Given the description of an element on the screen output the (x, y) to click on. 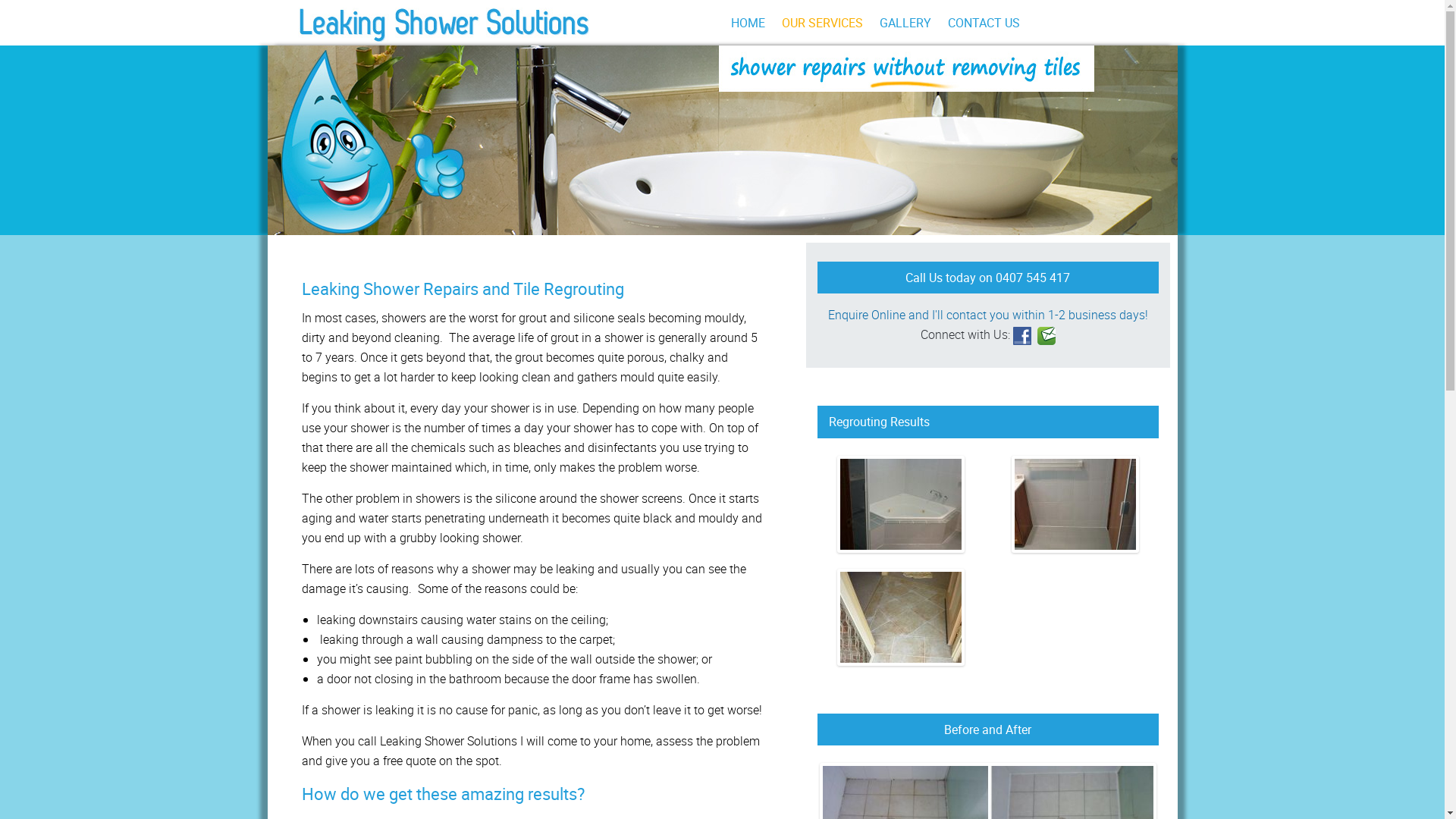
Regrout-bathroom2 Element type: hover (1074, 503)
OUR SERVICES Element type: text (821, 22)
Leaking Shower Repairs and Tile Regrouting Element type: text (462, 288)
GALLERY Element type: text (905, 22)
Regrout-bathroom1 Element type: hover (900, 503)
HOME Element type: text (747, 22)
Regrout-Entry4 Element type: hover (900, 616)
CONTACT US Element type: text (983, 22)
